Given the description of an element on the screen output the (x, y) to click on. 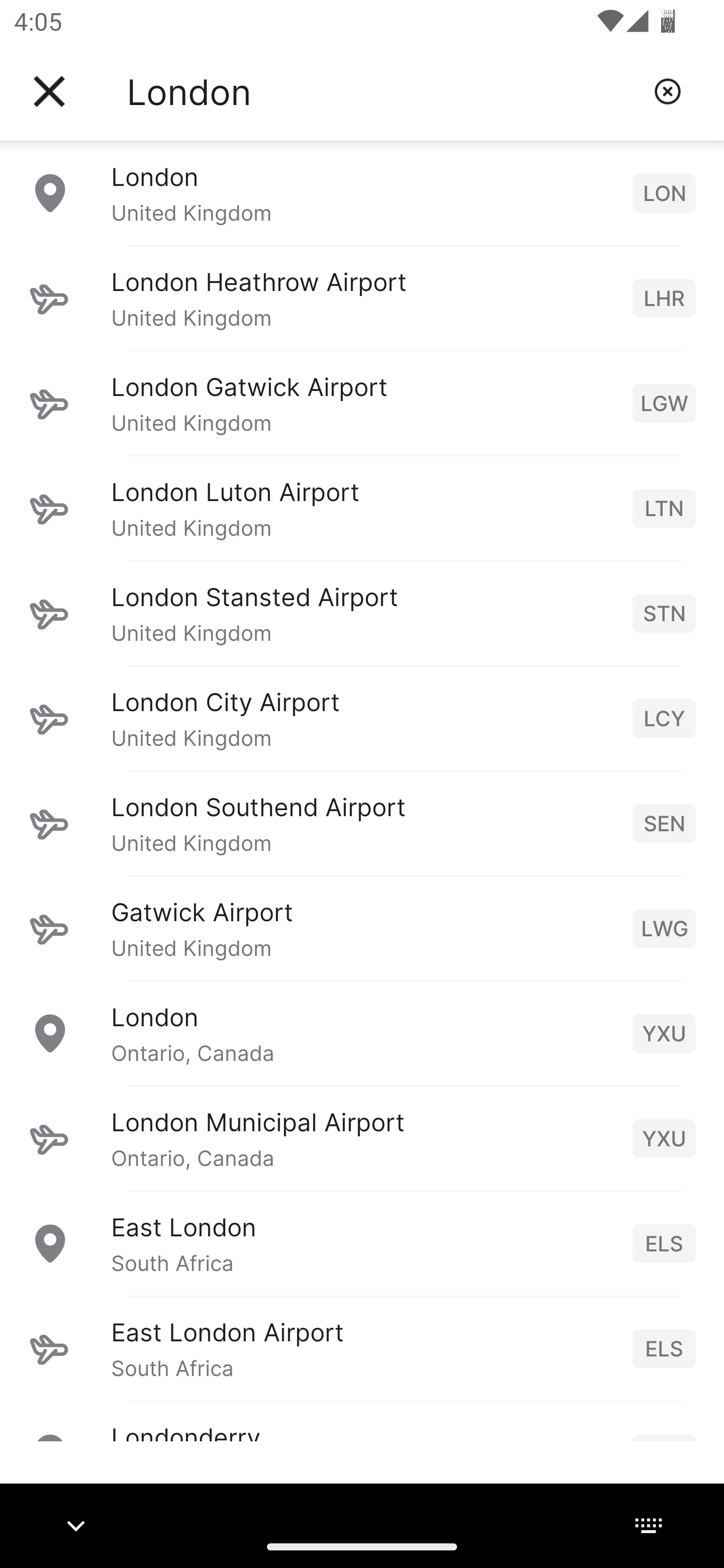
London (382, 91)
London United Kingdom LON (362, 192)
London Heathrow Airport United Kingdom LHR (362, 297)
London Gatwick Airport United Kingdom LGW (362, 402)
London Luton Airport United Kingdom LTN (362, 507)
London Stansted Airport United Kingdom STN (362, 612)
London City Airport United Kingdom LCY (362, 717)
London Southend Airport United Kingdom SEN (362, 822)
Gatwick Airport United Kingdom LWG (362, 928)
London Ontario, Canada YXU (362, 1033)
London Municipal Airport Ontario, Canada YXU (362, 1138)
East London South Africa ELS (362, 1243)
East London Airport South Africa ELS (362, 1348)
